Given the description of an element on the screen output the (x, y) to click on. 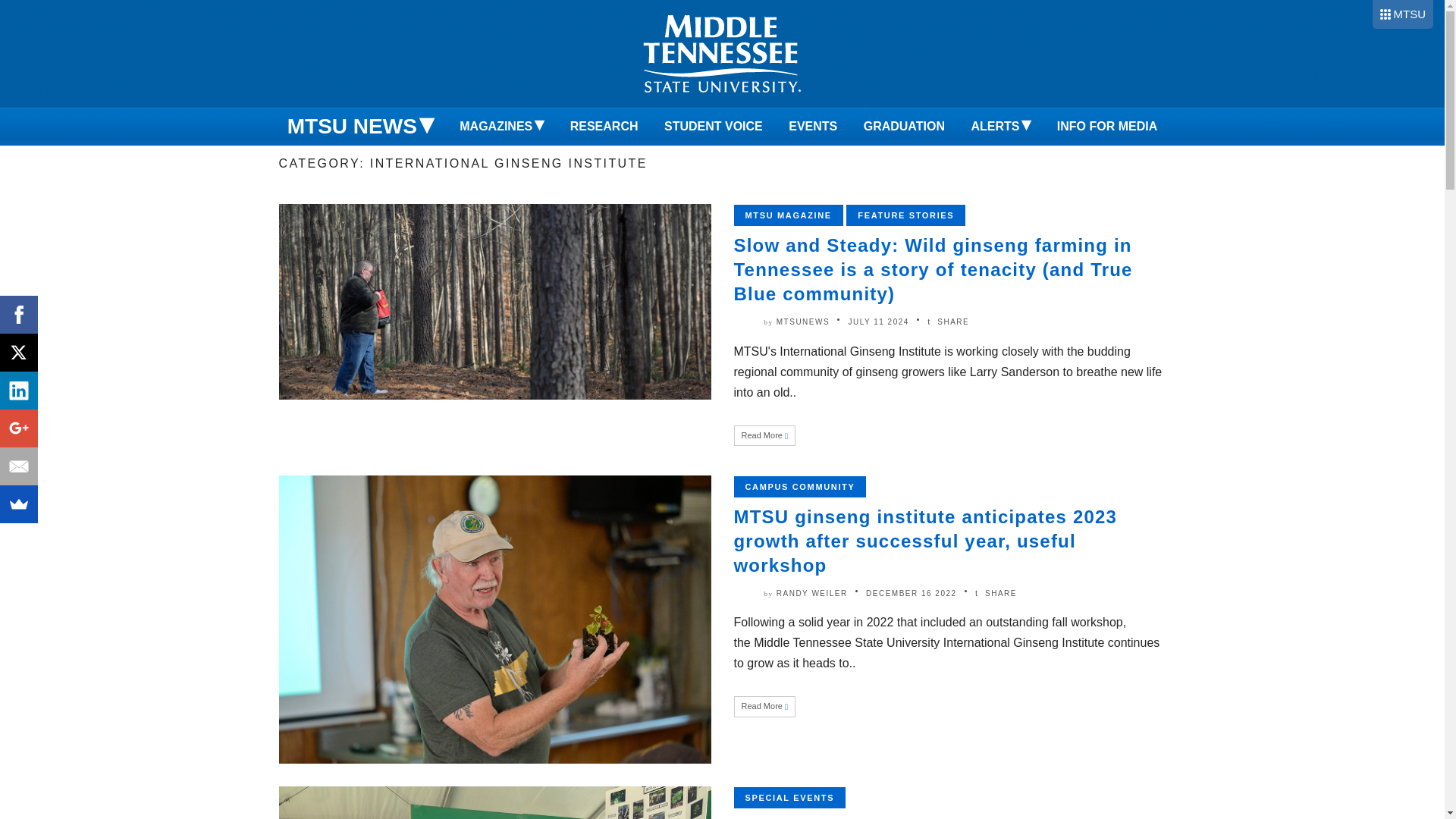
July 11, 2024 10:46 (877, 321)
Posts by Randy Weiler (811, 592)
Posts by mtsunews (802, 321)
December 16, 2022 8:40 (911, 592)
